Given the description of an element on the screen output the (x, y) to click on. 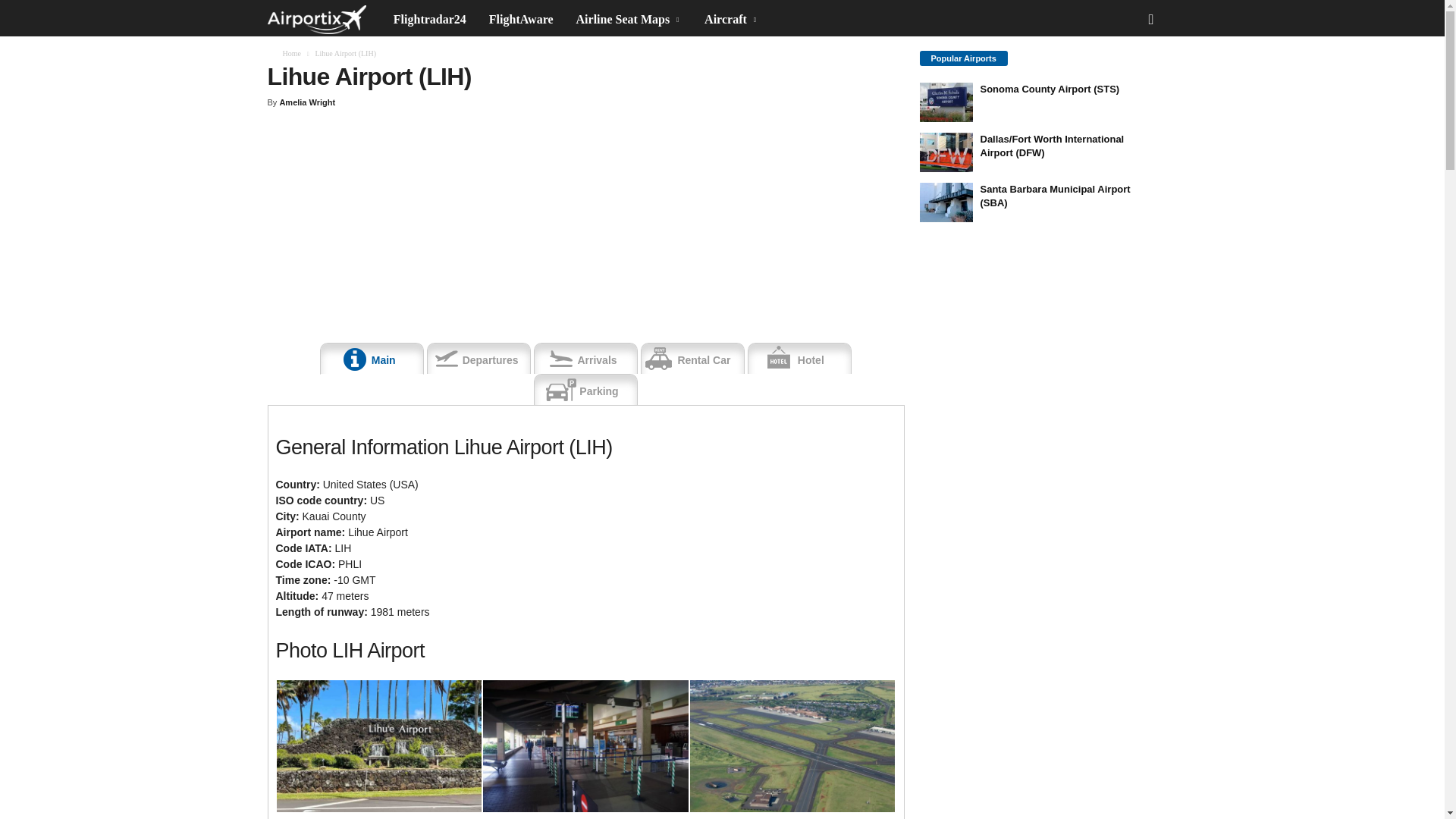
Advertisement (1032, 327)
Airportix (315, 19)
